Given the description of an element on the screen output the (x, y) to click on. 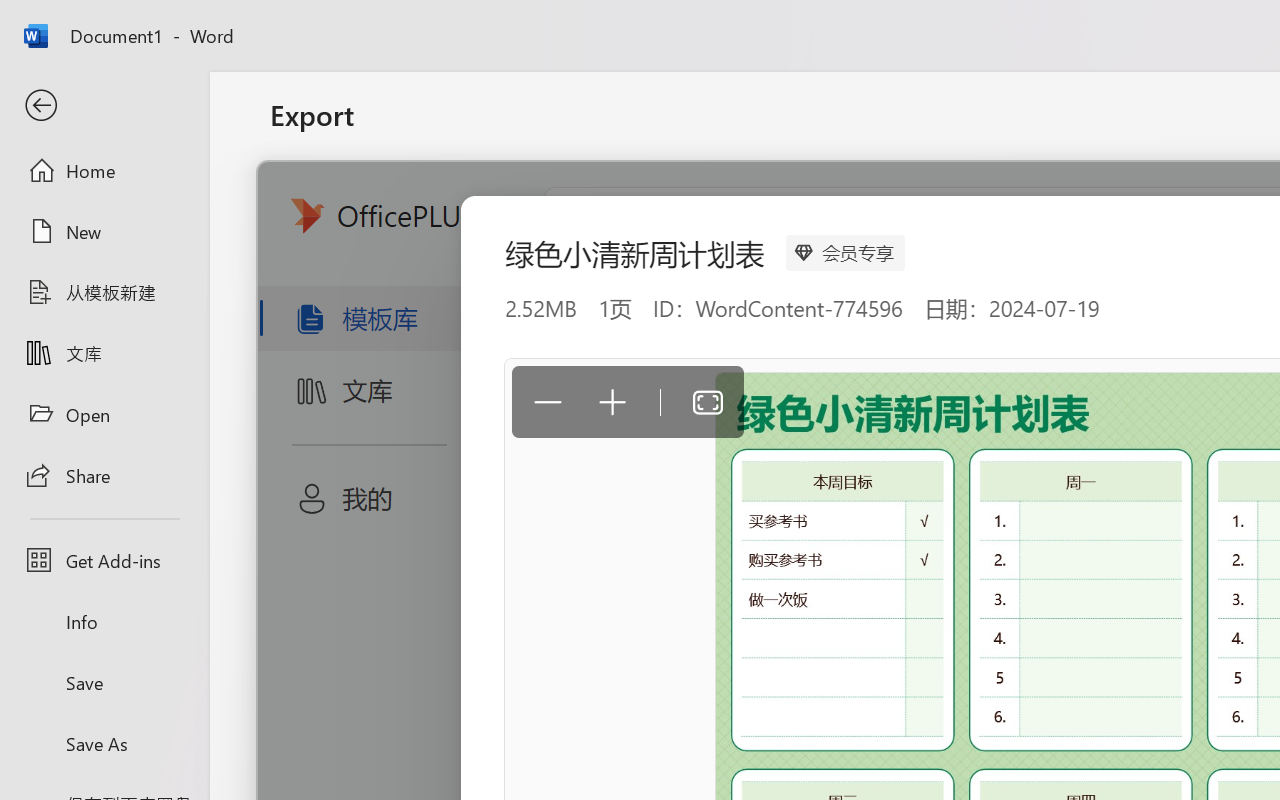
Create PDF/XPS (858, 399)
New (104, 231)
